Given the description of an element on the screen output the (x, y) to click on. 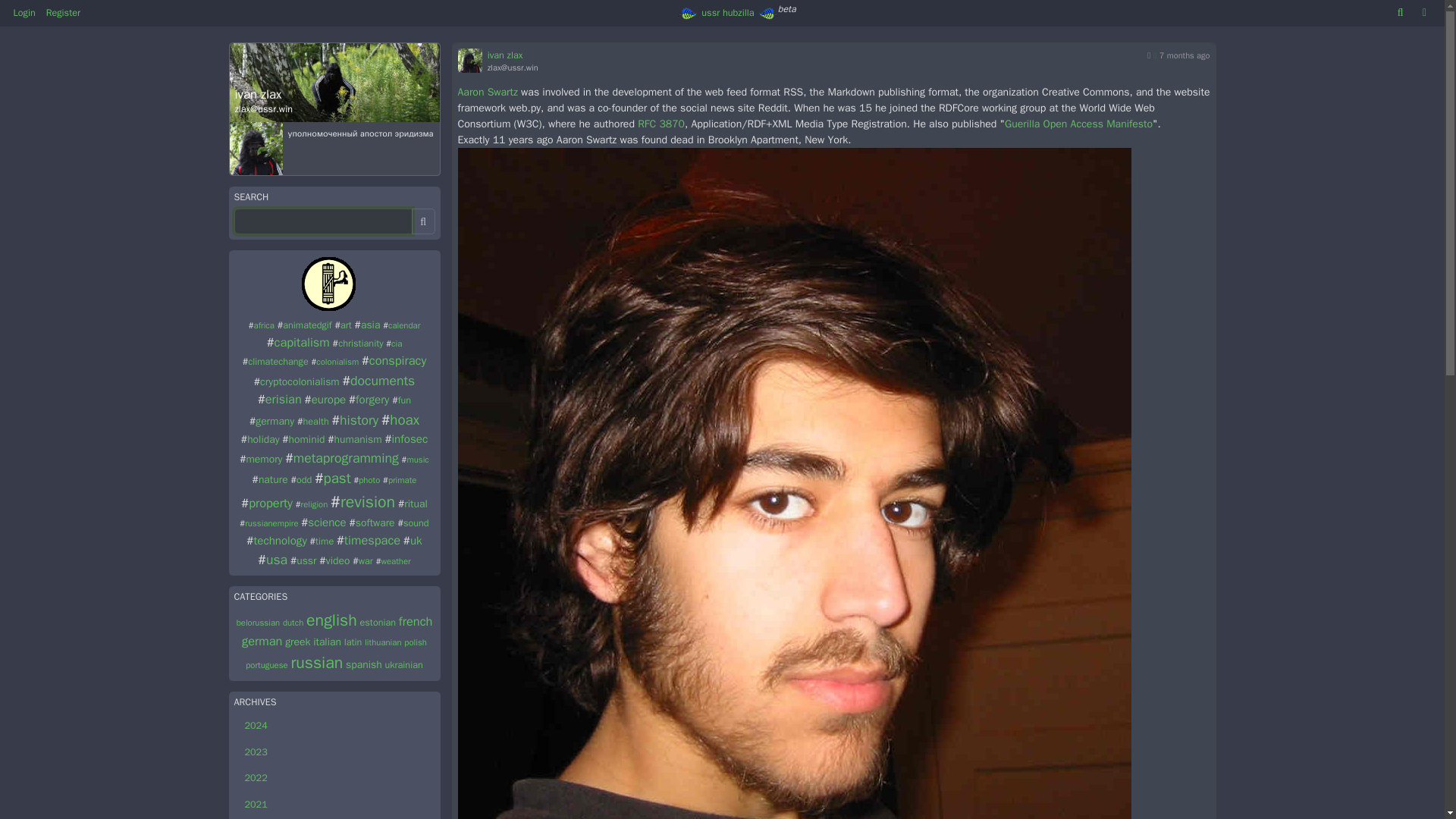
christianity (359, 343)
asia (370, 324)
Create an account (62, 12)
hubzilla (738, 12)
art (346, 325)
Login (23, 12)
capitalism (302, 342)
Sign in (23, 12)
cia (396, 343)
Register (62, 12)
